Given the description of an element on the screen output the (x, y) to click on. 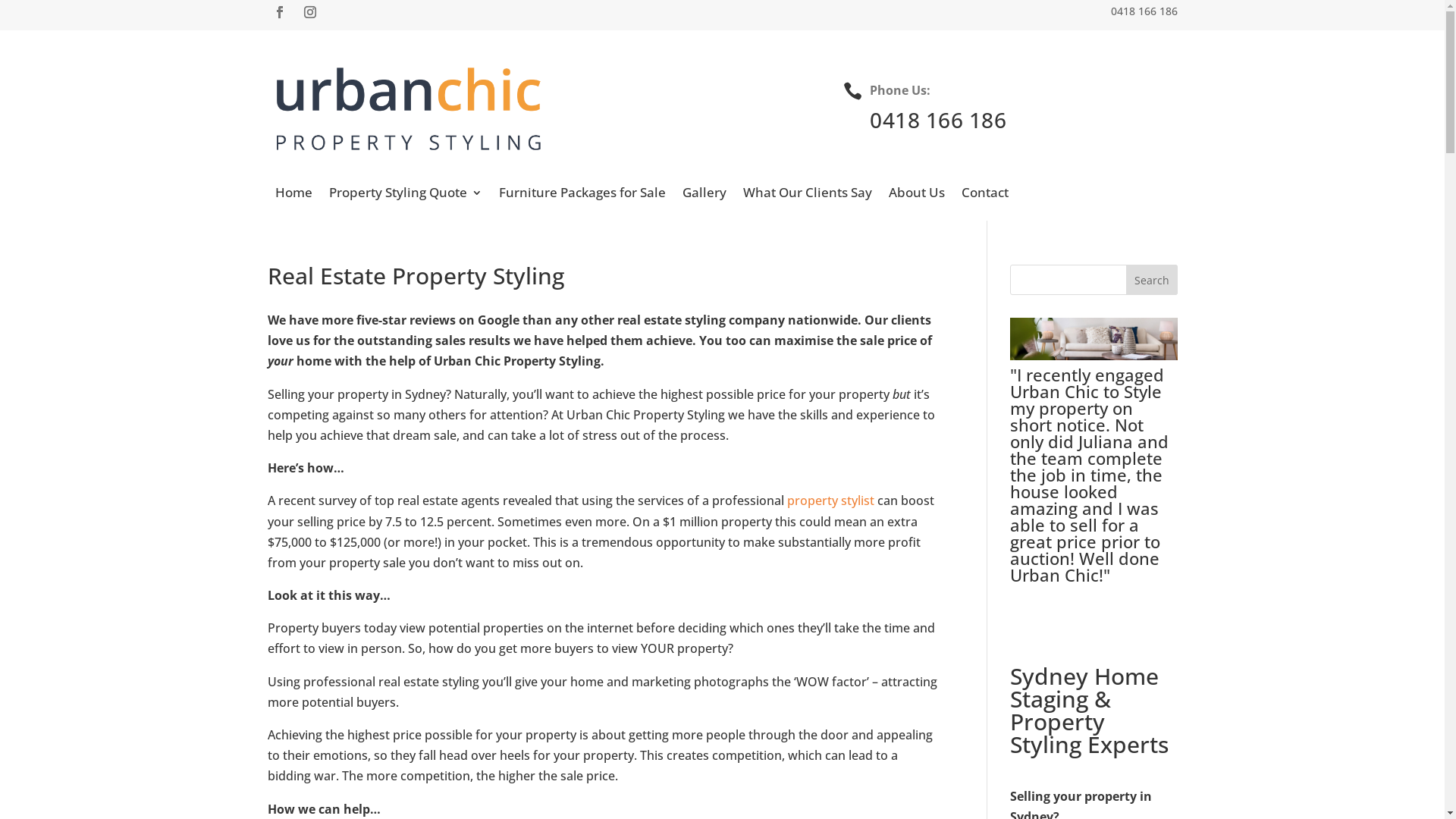
Gallery Element type: text (704, 195)
0418 166 186 Element type: text (1143, 14)
URBAN_CHIC_white_2 (1) (2) Element type: hover (407, 109)
Contact Element type: text (984, 195)
property stylist Element type: text (830, 500)
Home Element type: text (292, 195)
Property Styling Quote Element type: text (405, 195)
Search Element type: text (1151, 279)
0418 166 186 Element type: text (937, 119)
Follow on Facebook Element type: hover (278, 12)
What Our Clients Say Element type: text (807, 195)
Furniture Packages for Sale Element type: text (581, 195)
About Us Element type: text (916, 195)
Follow on Instagram Element type: hover (309, 12)
